Given the description of an element on the screen output the (x, y) to click on. 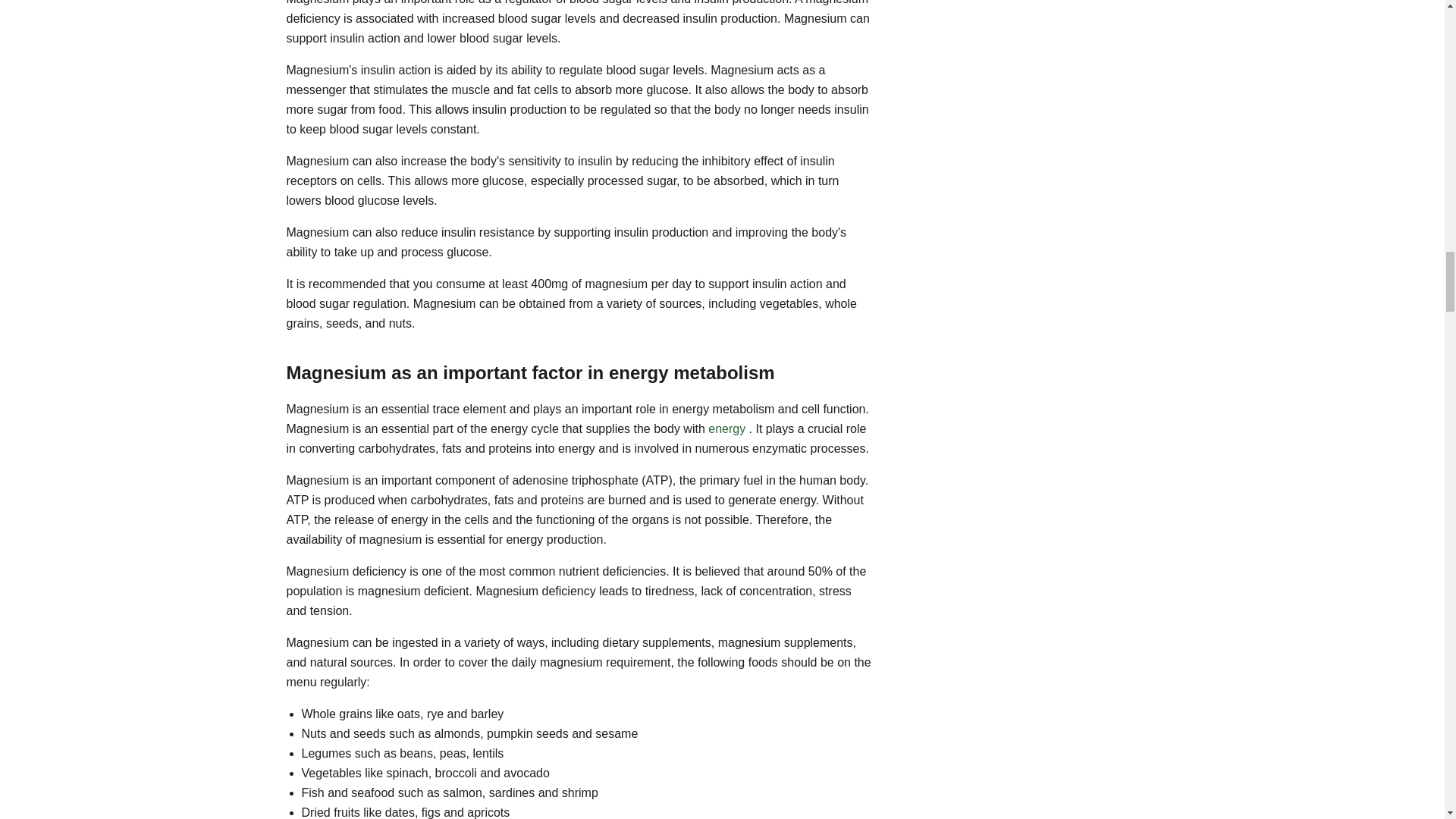
energy (726, 428)
